Given the description of an element on the screen output the (x, y) to click on. 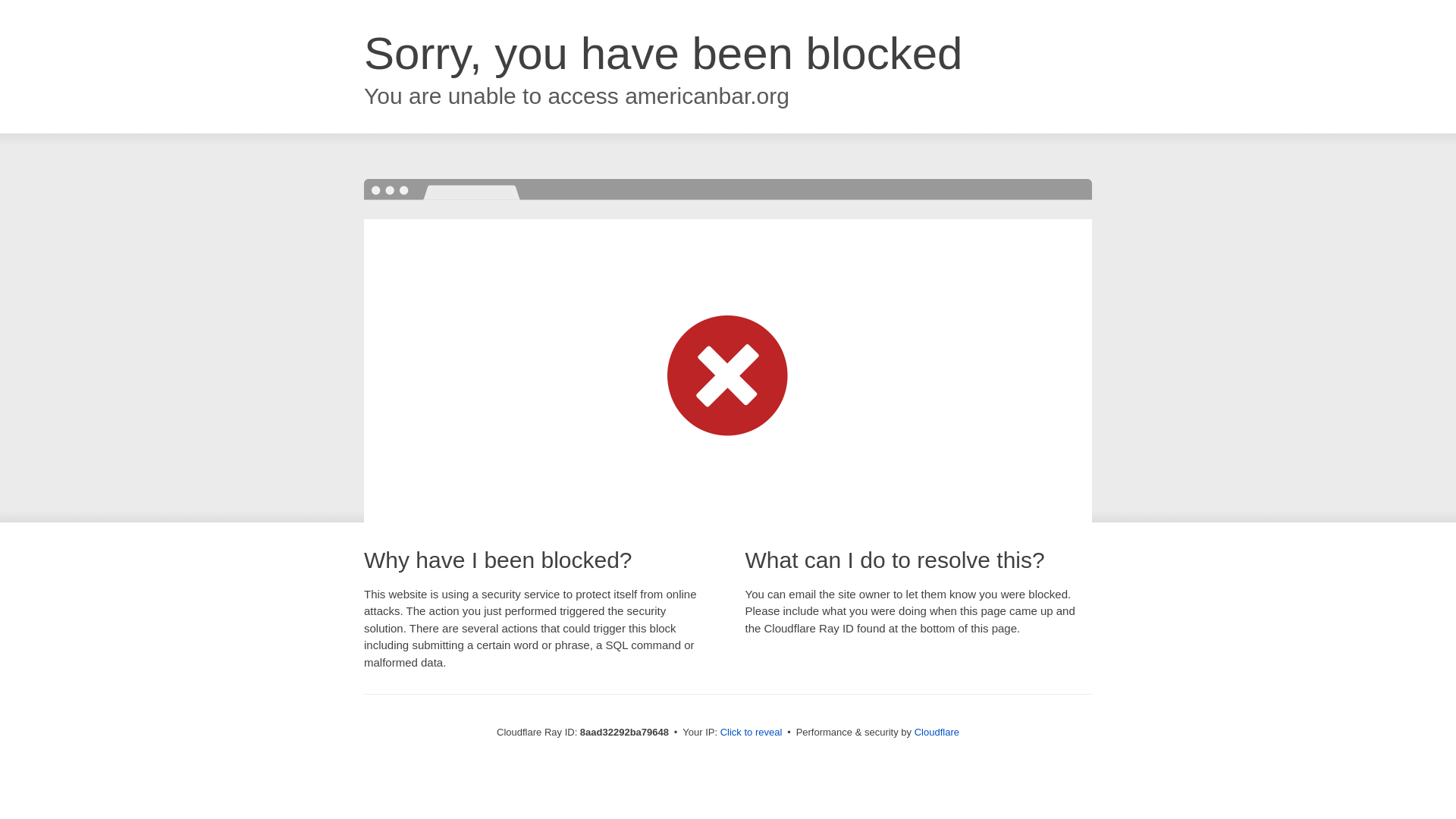
Click to reveal (751, 732)
Cloudflare (936, 731)
